Given the description of an element on the screen output the (x, y) to click on. 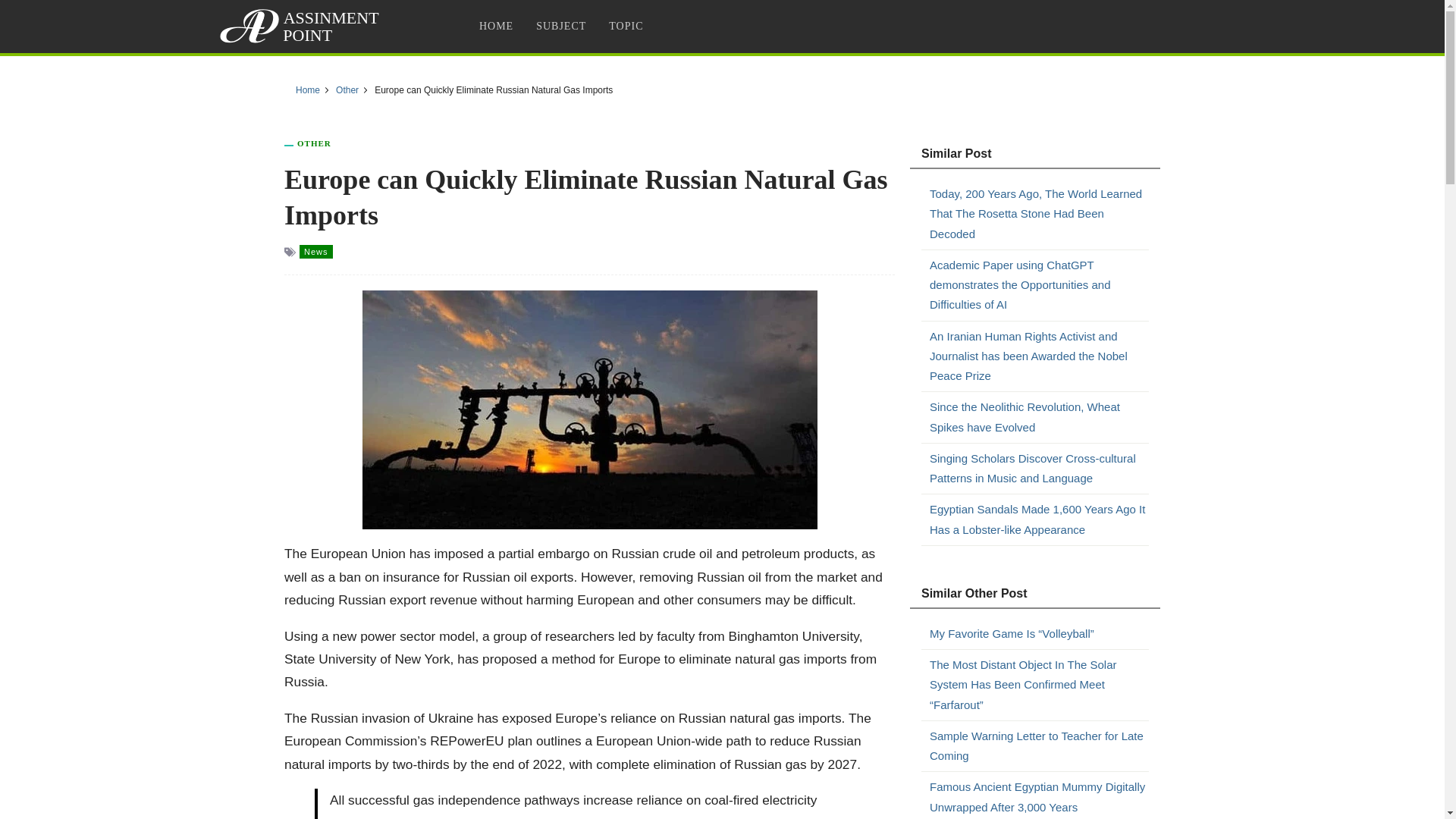
Other (347, 90)
TOPIC (624, 26)
Assignment Point (301, 26)
OTHER (314, 143)
Home (307, 90)
Topic (624, 26)
Sample Warning Letter to Teacher for Late Coming (1039, 746)
